Given the description of an element on the screen output the (x, y) to click on. 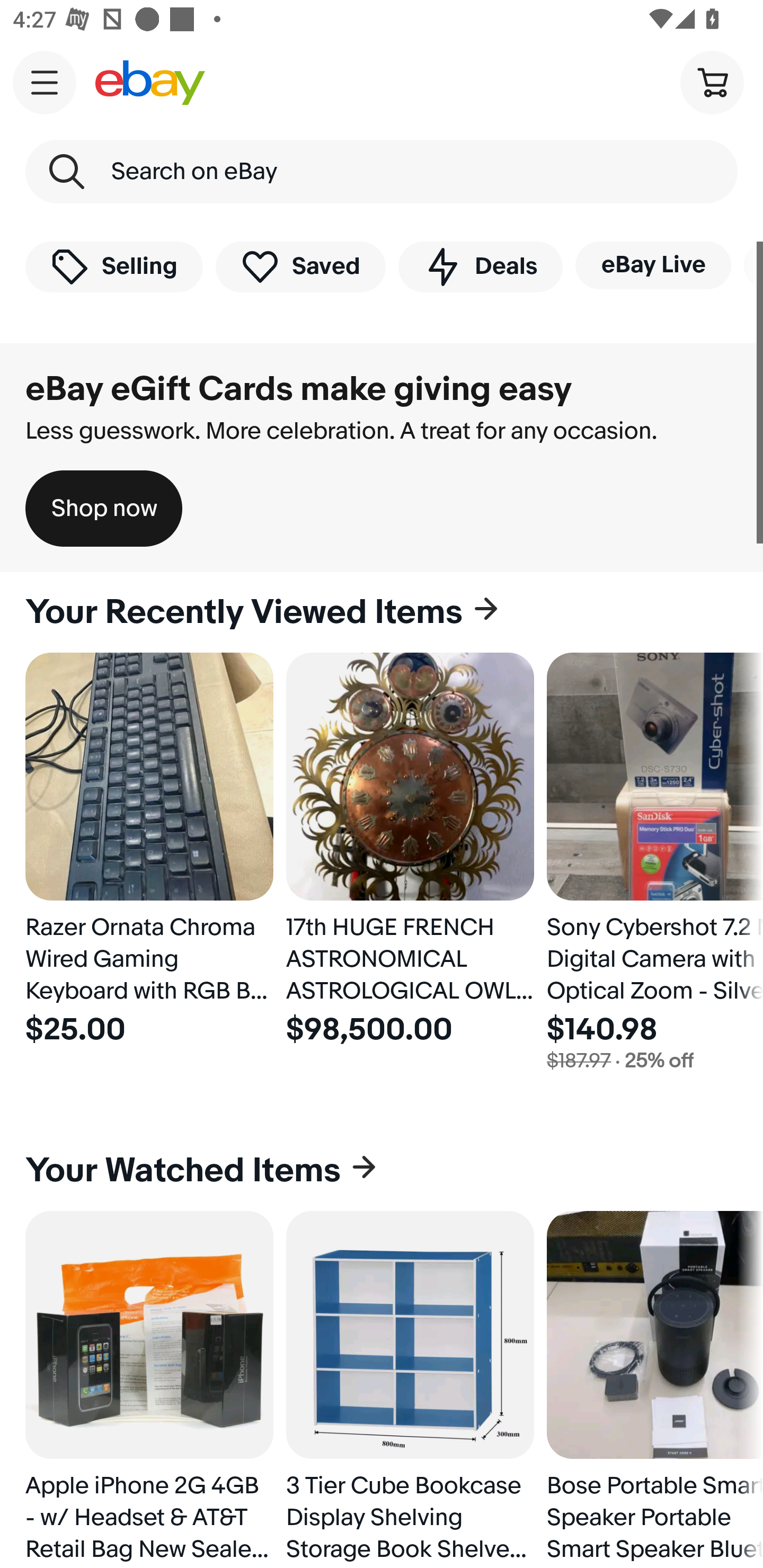
Main navigation, open (44, 82)
Cart button shopping cart (711, 81)
Search on eBay Search Keyword Search on eBay (381, 171)
Selling (113, 266)
Saved (300, 266)
Deals (480, 266)
eBay Live (652, 264)
eBay eGift Cards make giving easy (298, 389)
Shop now (103, 508)
Your Recently Viewed Items   (381, 612)
Your Watched Items   (381, 1170)
